Given the description of an element on the screen output the (x, y) to click on. 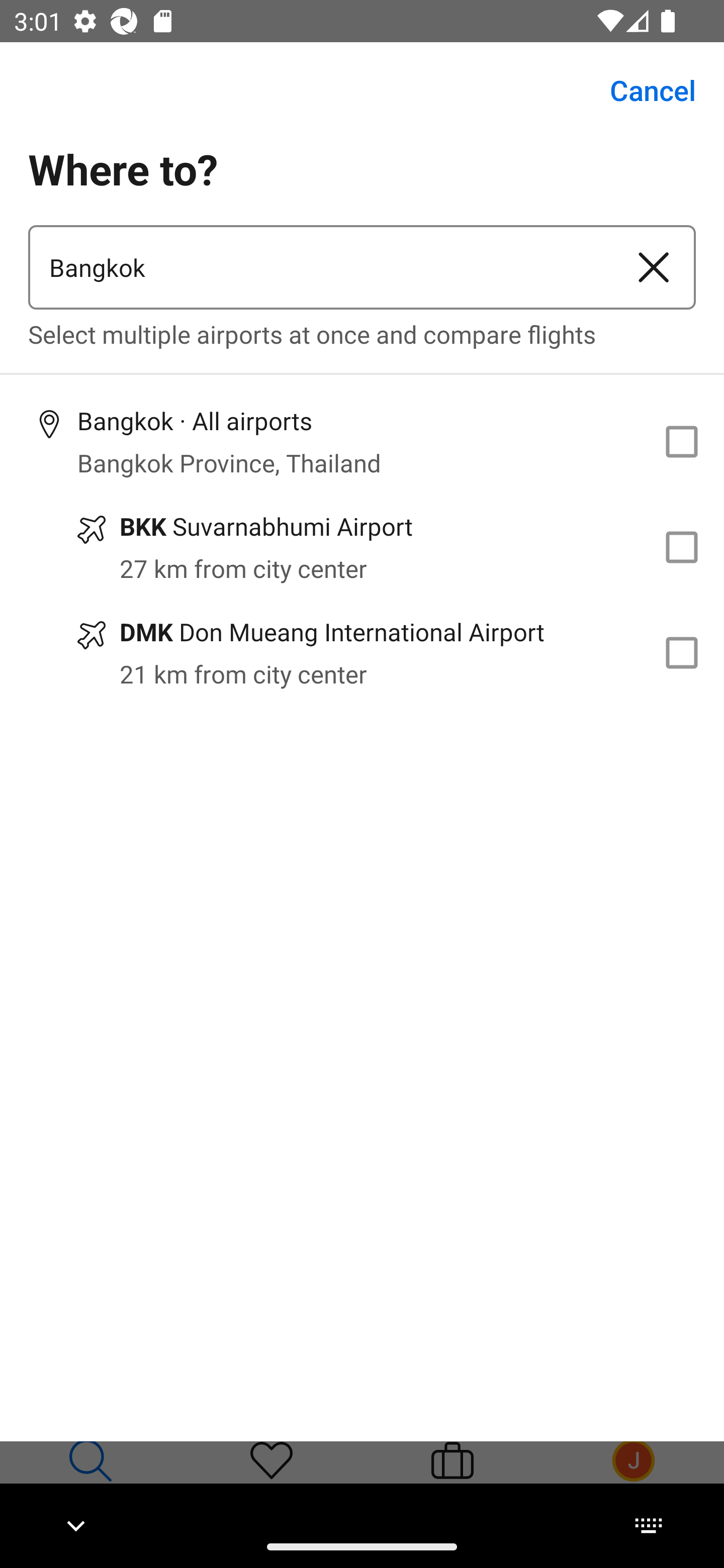
Cancel (641, 90)
Bangkok (319, 266)
Clear airport or city (653, 266)
Bangkok · All airports Bangkok Province, Thailand (362, 440)
BKK Suvarnabhumi Airport 27 km from city center (362, 547)
